Given the description of an element on the screen output the (x, y) to click on. 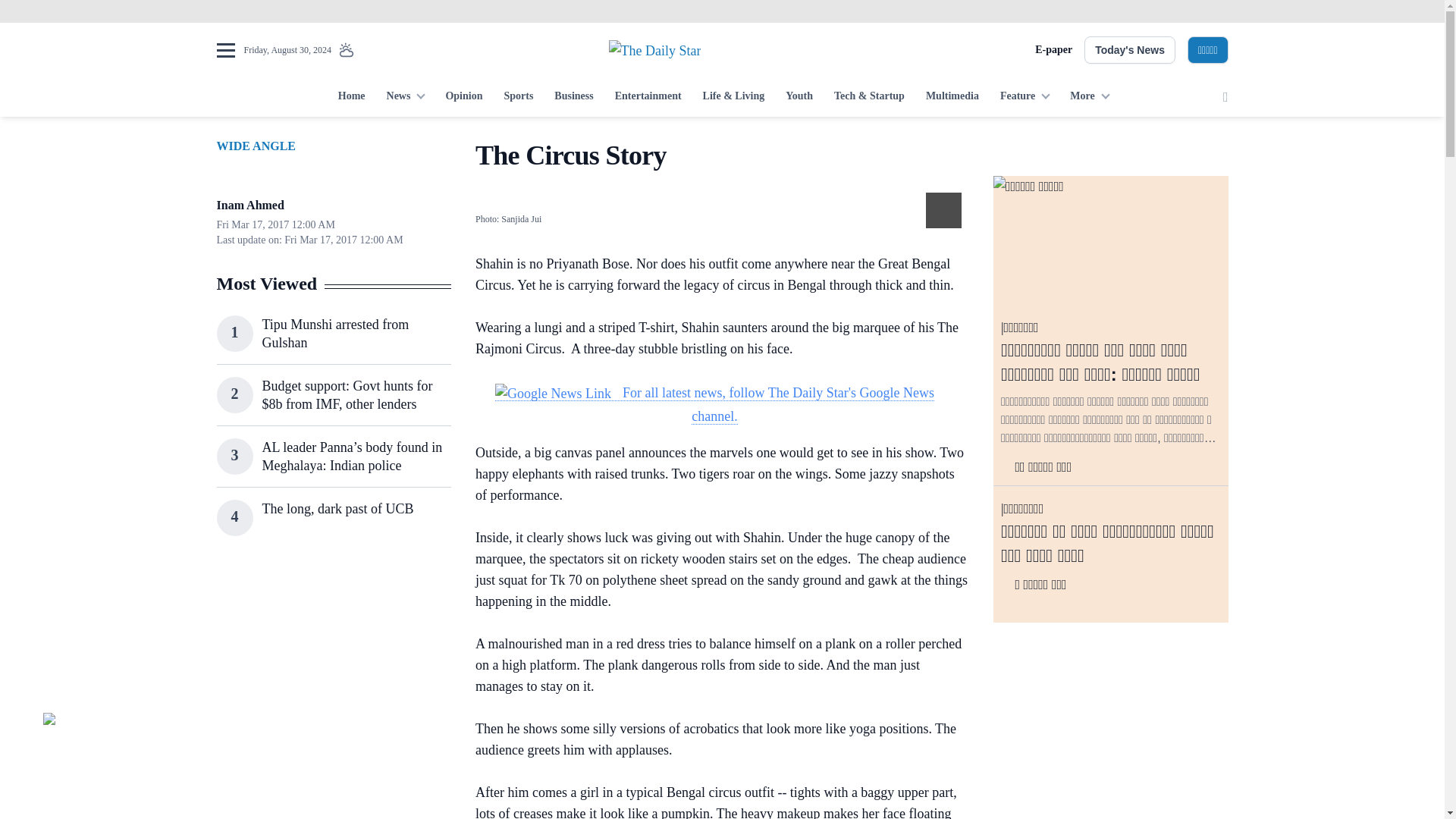
Today's News (1129, 49)
Youth (799, 96)
Entertainment (647, 96)
News (405, 96)
Opinion (463, 96)
Multimedia (952, 96)
Sports (518, 96)
Home (351, 96)
Feature (1024, 96)
